Given the description of an element on the screen output the (x, y) to click on. 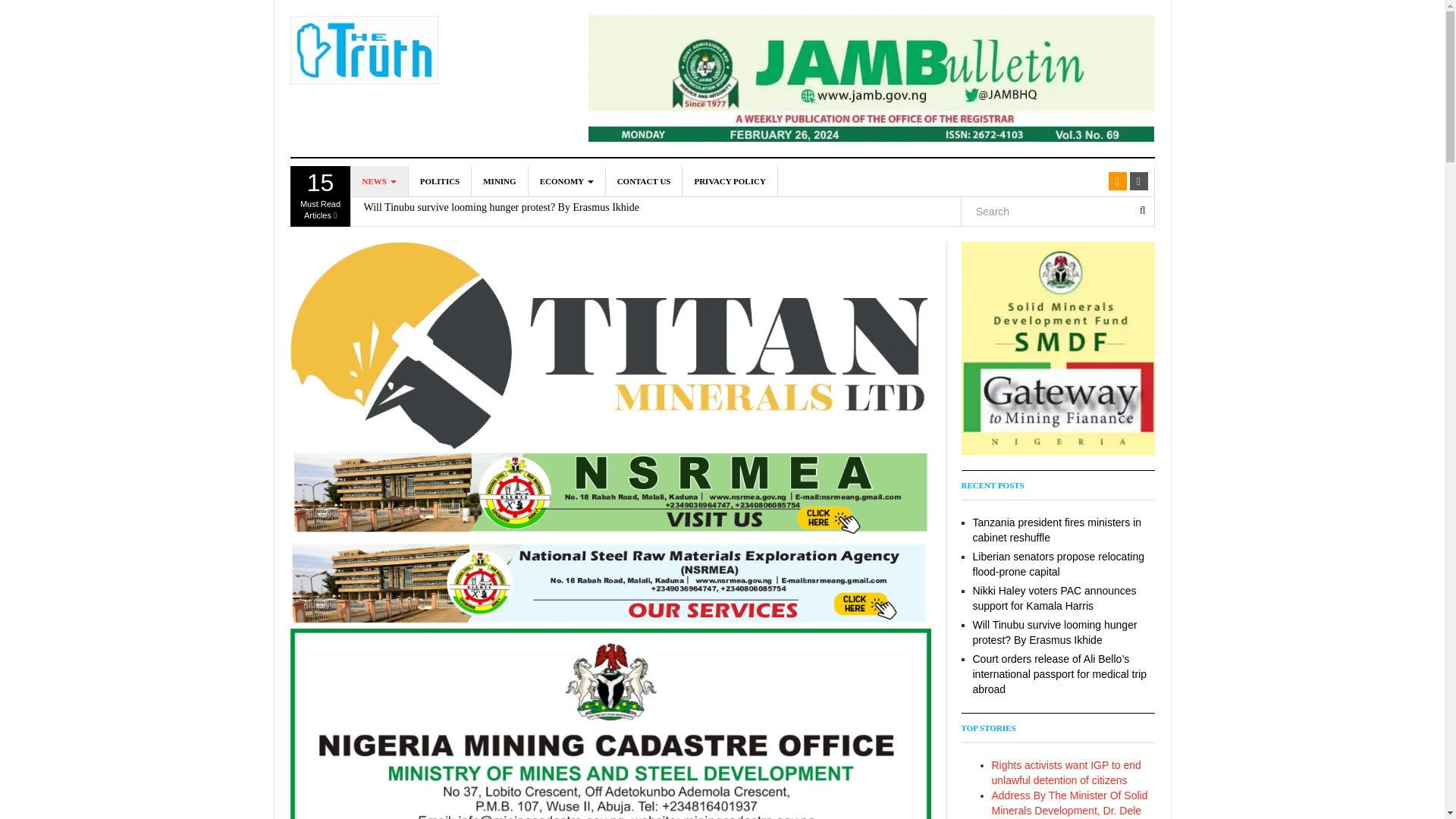
PRIVACY POLICY (729, 181)
MINING (499, 181)
The Truth (363, 49)
NEWS (378, 181)
CONTACT US (319, 196)
POLITICS (643, 181)
ECONOMY (440, 181)
